Given the description of an element on the screen output the (x, y) to click on. 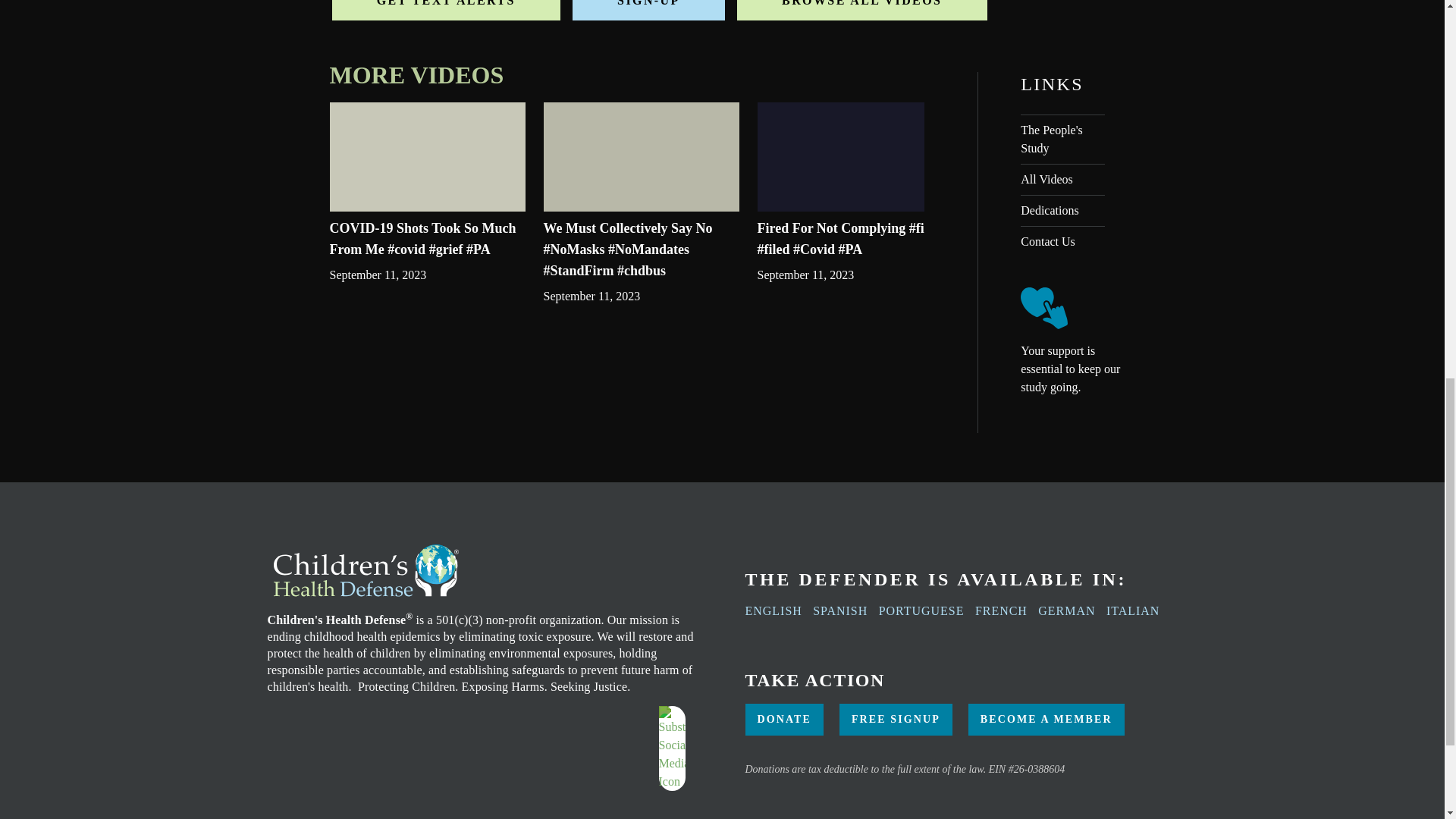
BROWSE ALL VIDEOS (861, 10)
SIGN-UP (648, 10)
GET TEXT ALERTS (445, 10)
